Given the description of an element on the screen output the (x, y) to click on. 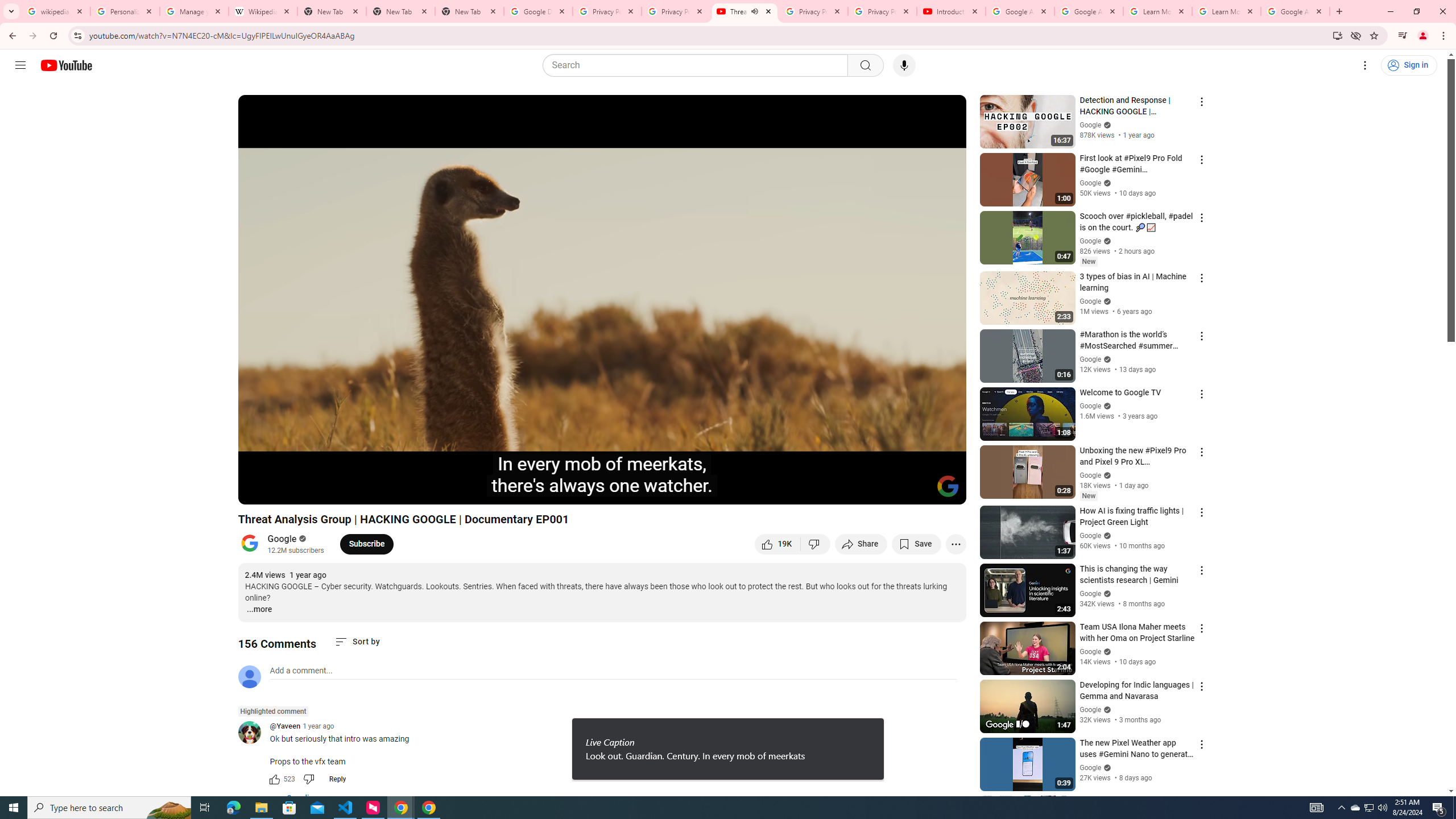
Verified (1106, 767)
Dislike this comment (307, 778)
2 replies (295, 798)
Default profile photo (248, 676)
New (1087, 495)
Theater mode (t) (917, 490)
Share (861, 543)
